Given the description of an element on the screen output the (x, y) to click on. 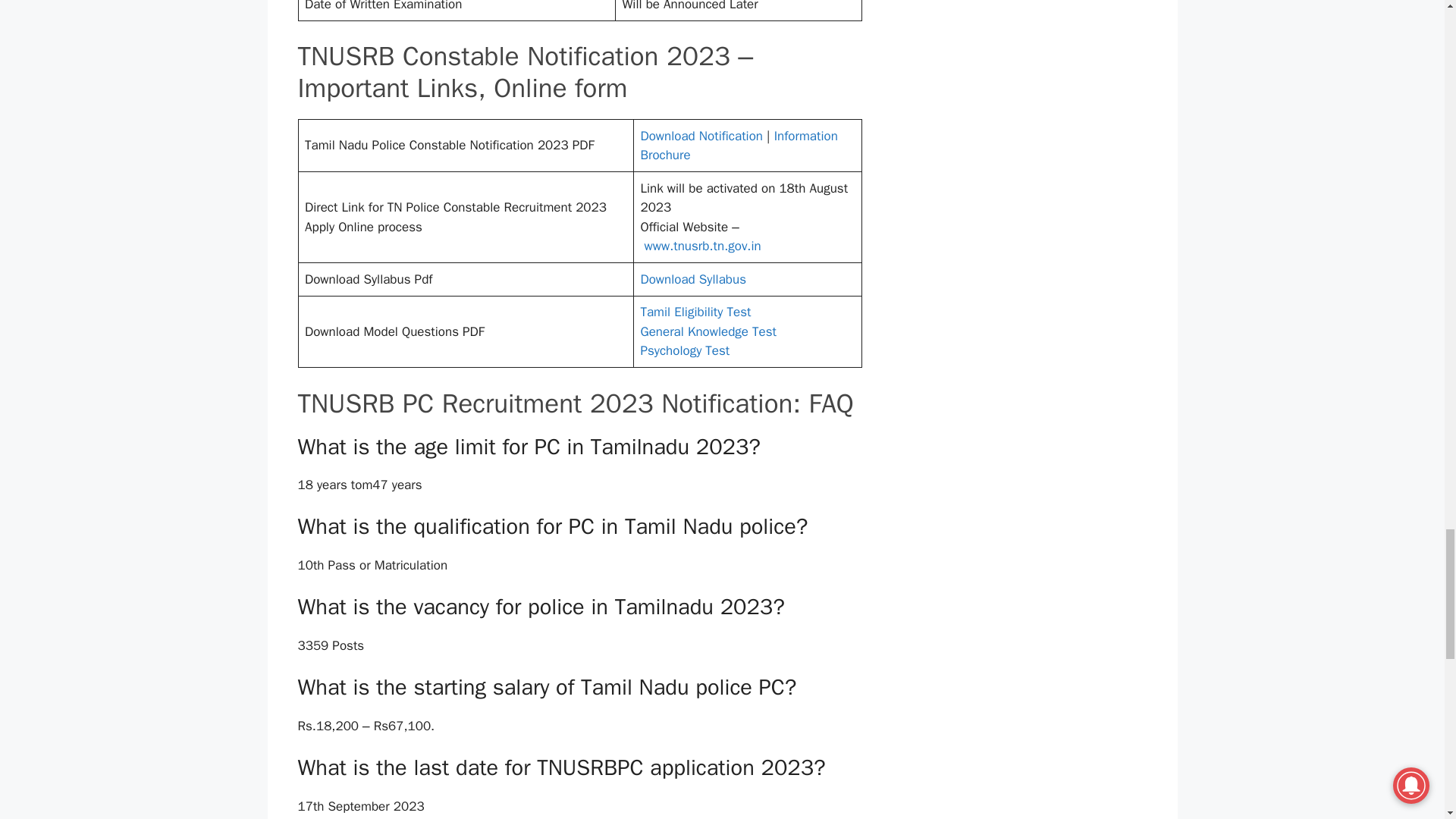
Psychology Test (684, 350)
www.tnusrb.tn.gov.in (703, 245)
Information Brochure (738, 145)
General Knowledge Test (708, 331)
Tamil Eligibility Test (695, 311)
Download Notification (701, 135)
Download Syllabus (692, 279)
